Given the description of an element on the screen output the (x, y) to click on. 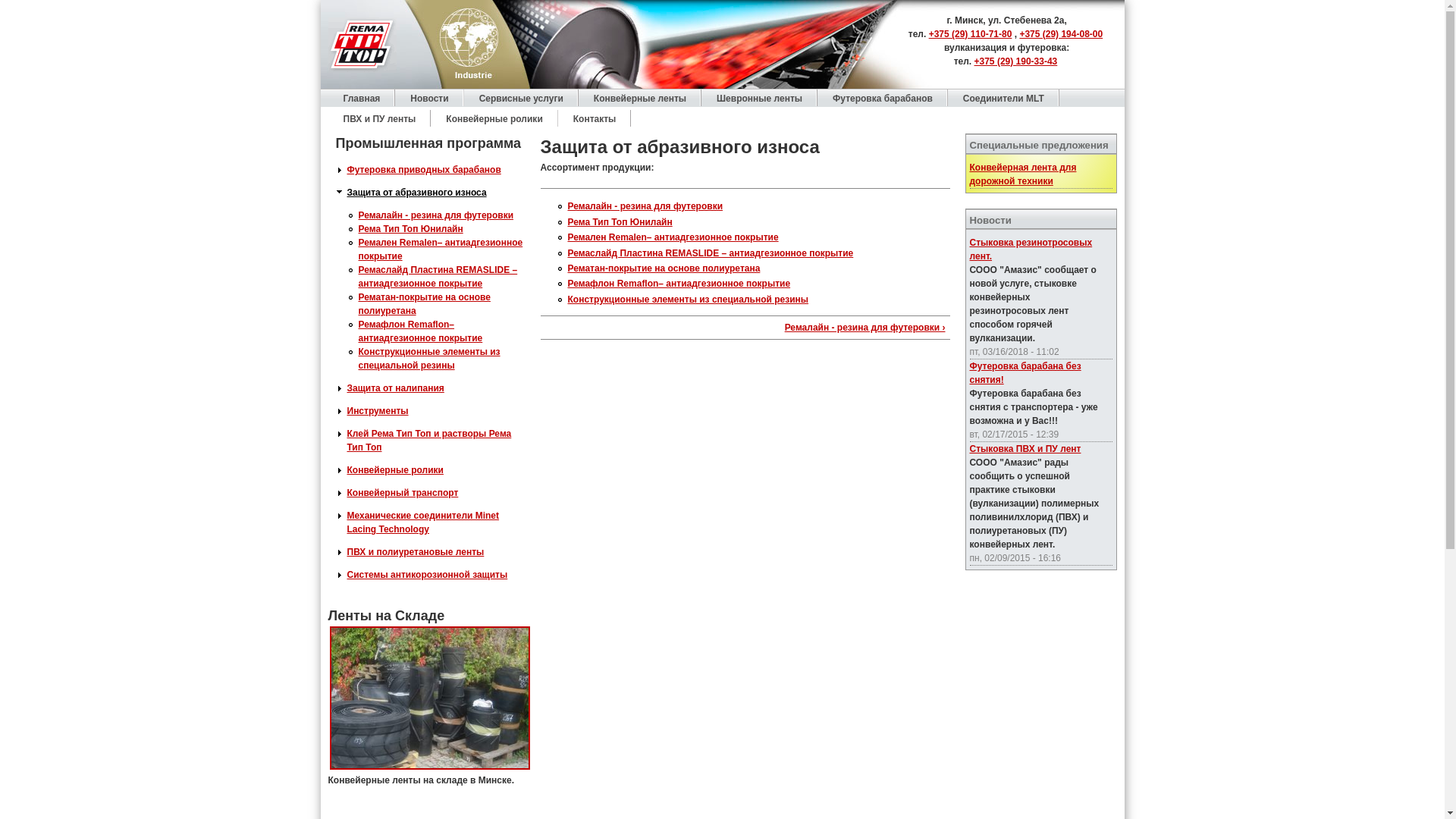
+375 (29) 190-33-43 Element type: text (1015, 61)
+375 (29) 110-71-80 Element type: text (970, 33)
+375 (29) 194-08-00 Element type: text (1060, 33)
